Given the description of an element on the screen output the (x, y) to click on. 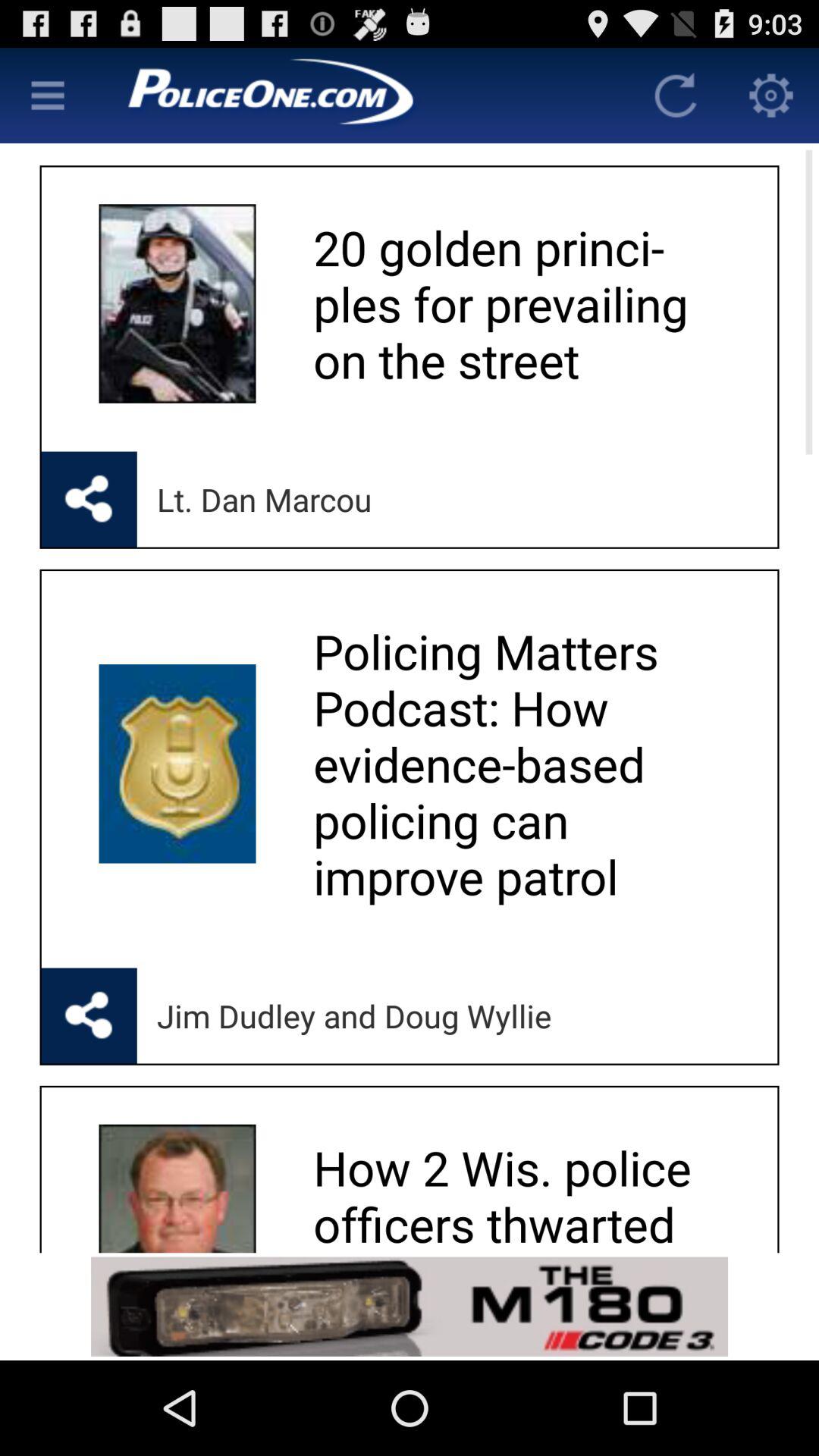
go to app settings (771, 95)
